Given the description of an element on the screen output the (x, y) to click on. 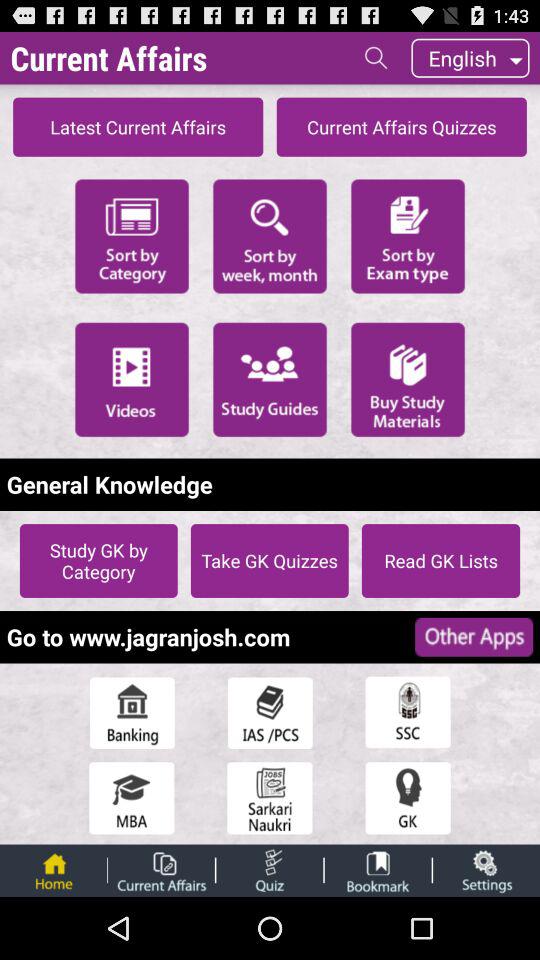
choose app above the general knowledge app (131, 379)
